Given the description of an element on the screen output the (x, y) to click on. 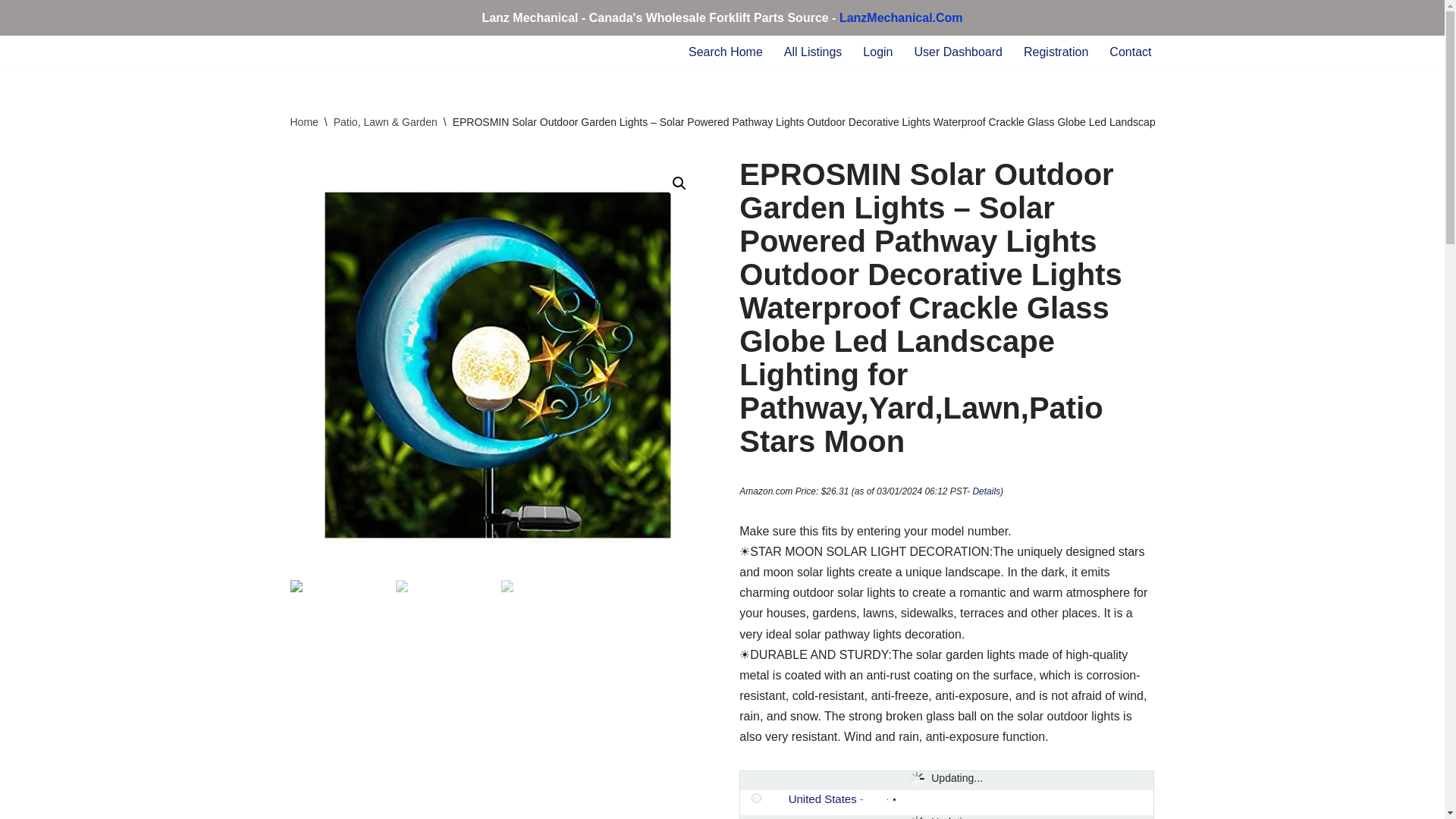
LanzMechanical.Com (901, 17)
Login (877, 51)
Search Home (725, 51)
Contact (1130, 51)
All Listings (812, 51)
United States (823, 798)
United States (775, 798)
Details (986, 491)
on (756, 798)
Home (303, 121)
